Given the description of an element on the screen output the (x, y) to click on. 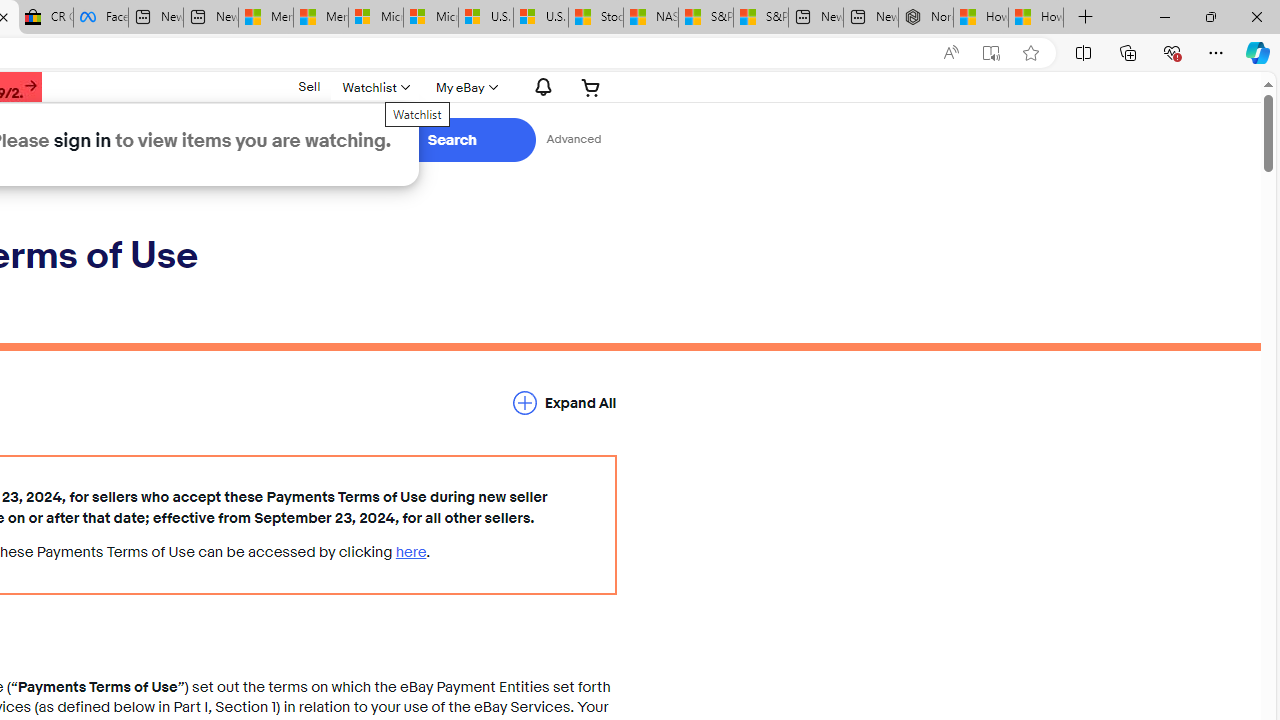
Sell (308, 86)
Notifications (538, 87)
Select a category for search (274, 139)
Facebook (100, 17)
Watchlist (374, 87)
